Given the description of an element on the screen output the (x, y) to click on. 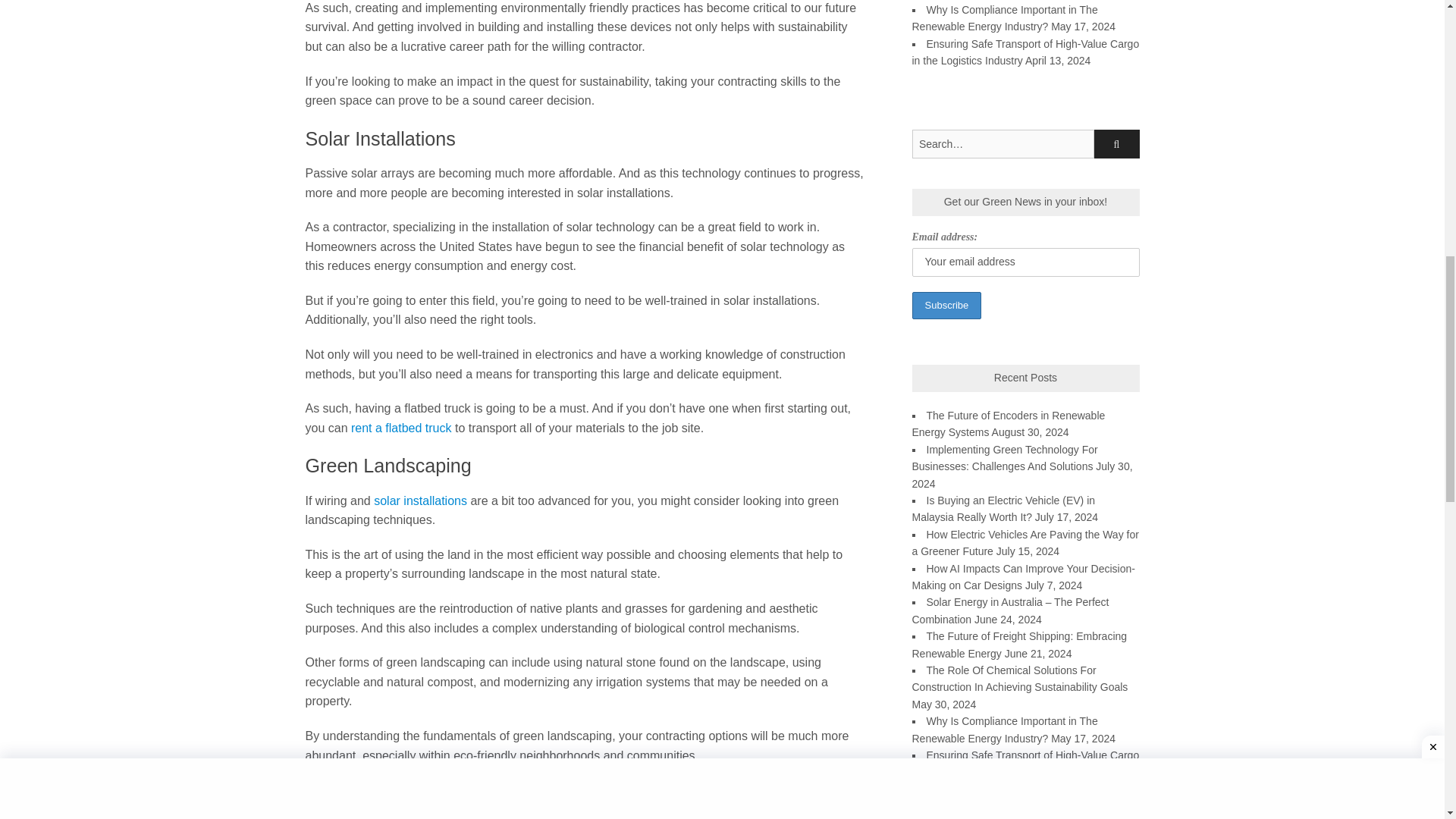
Subscribe (946, 305)
solar installations (420, 500)
rent a flatbed truck (400, 427)
